Given the description of an element on the screen output the (x, y) to click on. 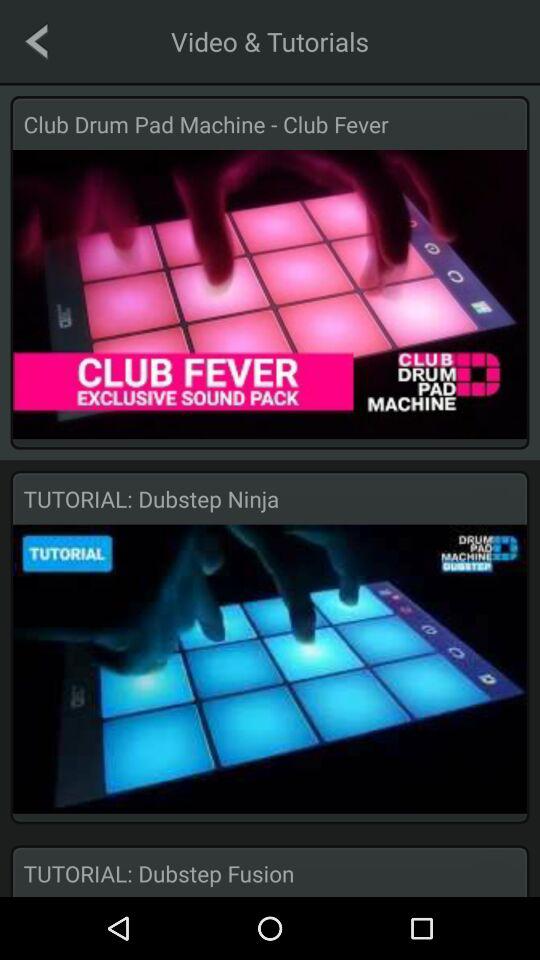
go back (36, 41)
